Given the description of an element on the screen output the (x, y) to click on. 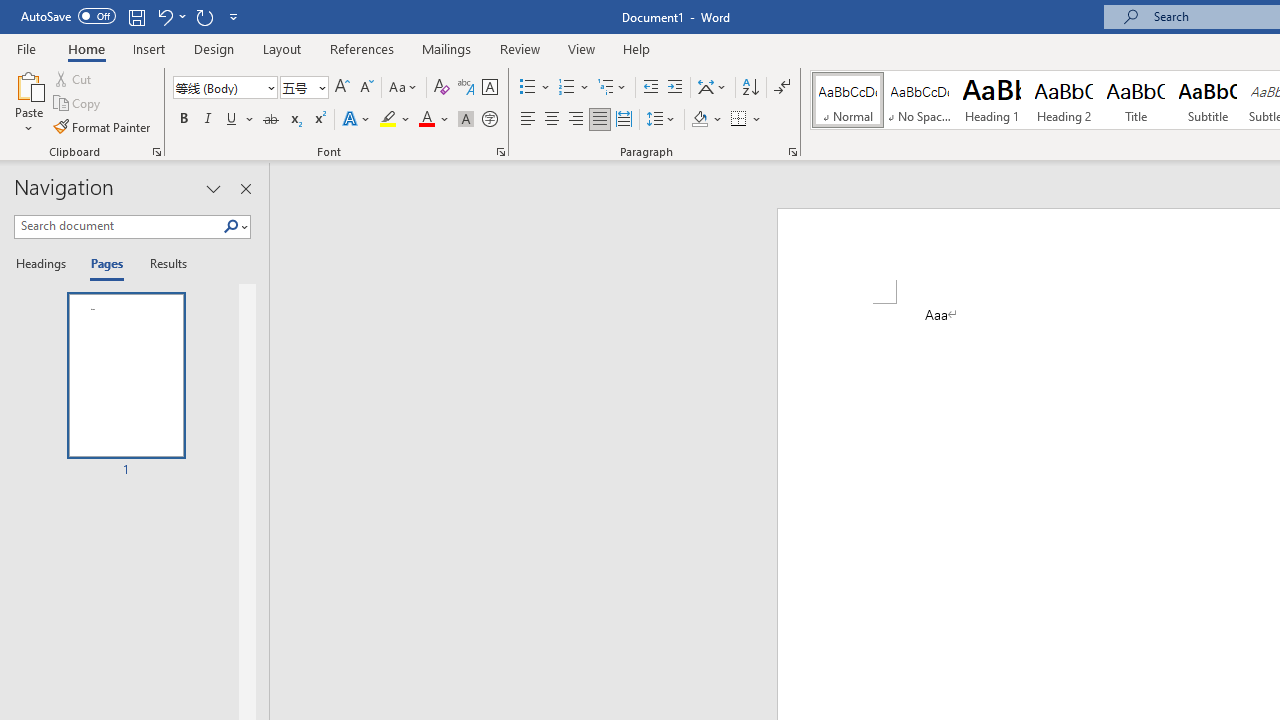
Enclose Characters... (489, 119)
Quick Access Toolbar (131, 16)
Undo Increase Indent (164, 15)
Copy (78, 103)
System (10, 11)
Subscript (294, 119)
Justify (599, 119)
Superscript (319, 119)
Decrease Indent (650, 87)
Numbering (566, 87)
Font... (500, 151)
Bullets (535, 87)
Align Left (527, 119)
Save (136, 15)
Title (1135, 100)
